Given the description of an element on the screen output the (x, y) to click on. 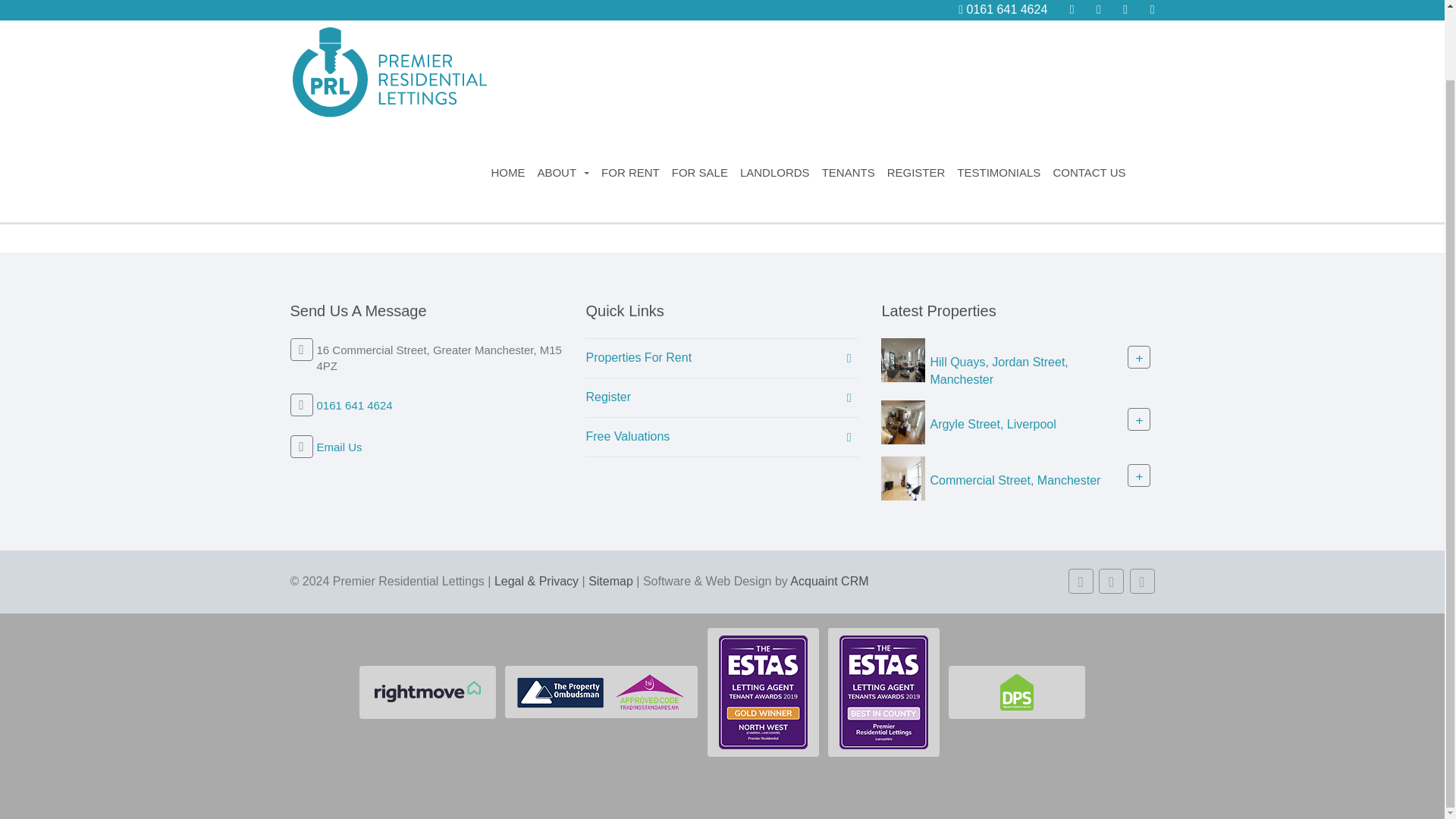
Acquaint CRM (828, 581)
CONTACT US (676, 182)
Property For Sale Argyle Street, Liverpool (902, 420)
Sitemap (610, 581)
Properties For Rent (722, 358)
HOME PAGE (768, 182)
Email Us (339, 446)
Property For Sale Commercial Street, Manchester (902, 477)
0161 641 4624 (355, 404)
Free Valuations (722, 436)
